Given the description of an element on the screen output the (x, y) to click on. 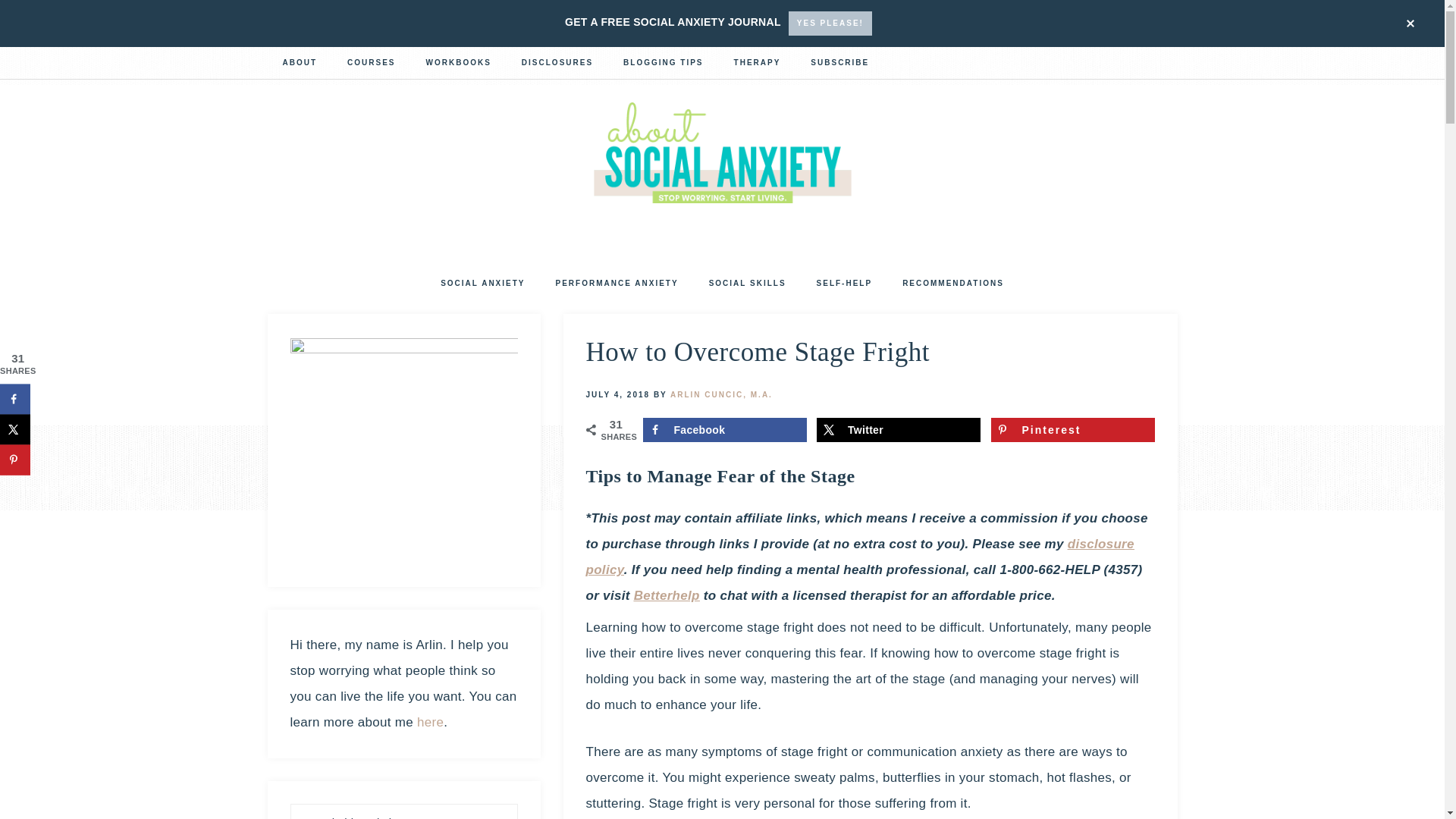
Share on X (897, 429)
COURSES (370, 63)
DISCLOSURES (557, 63)
THERAPY (757, 63)
PERFORMANCE ANXIETY (617, 284)
WORKBOOKS (458, 63)
SOCIAL SKILLS (748, 284)
Share on X (15, 429)
